Given the description of an element on the screen output the (x, y) to click on. 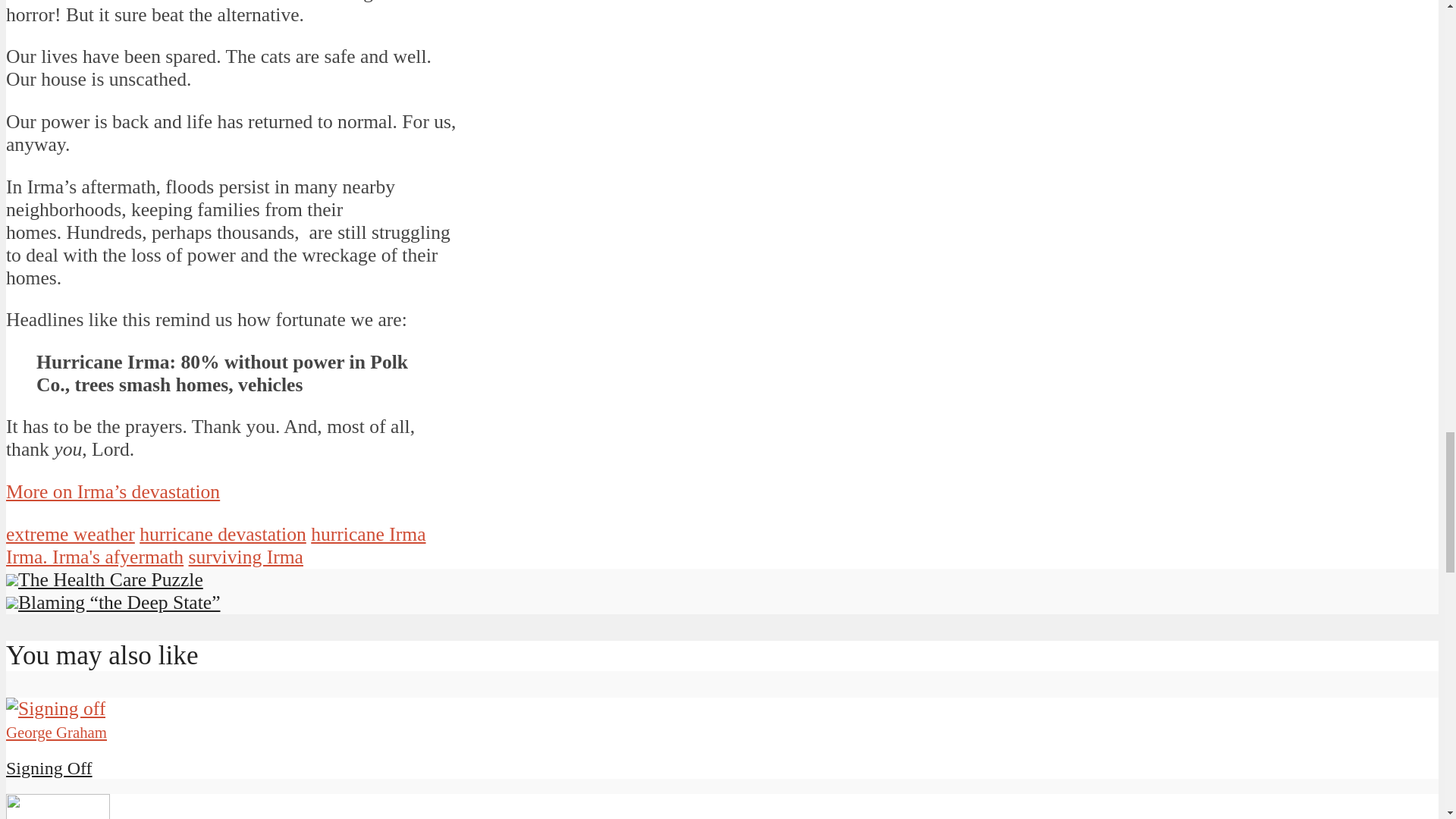
The Health Care Puzzle (104, 579)
Signing Off (49, 768)
George Graham (55, 732)
Irma. Irma's afyermath (94, 557)
hurricane Irma (368, 534)
hurricane devastation (222, 534)
extreme weather (70, 534)
Signing Off (54, 708)
surviving Irma (245, 557)
Signing Off (49, 768)
